Given the description of an element on the screen output the (x, y) to click on. 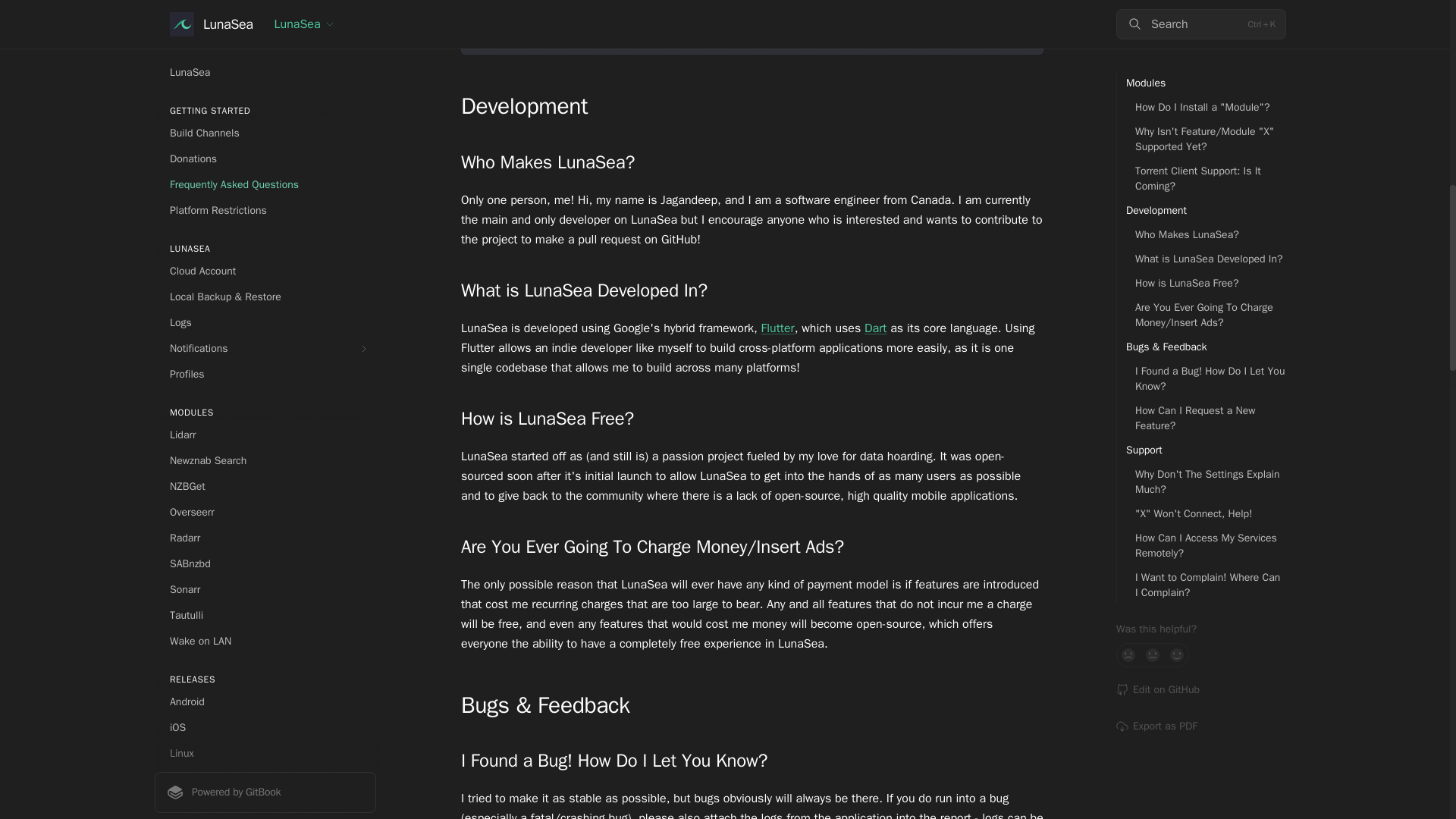
Windows (264, 12)
